Given the description of an element on the screen output the (x, y) to click on. 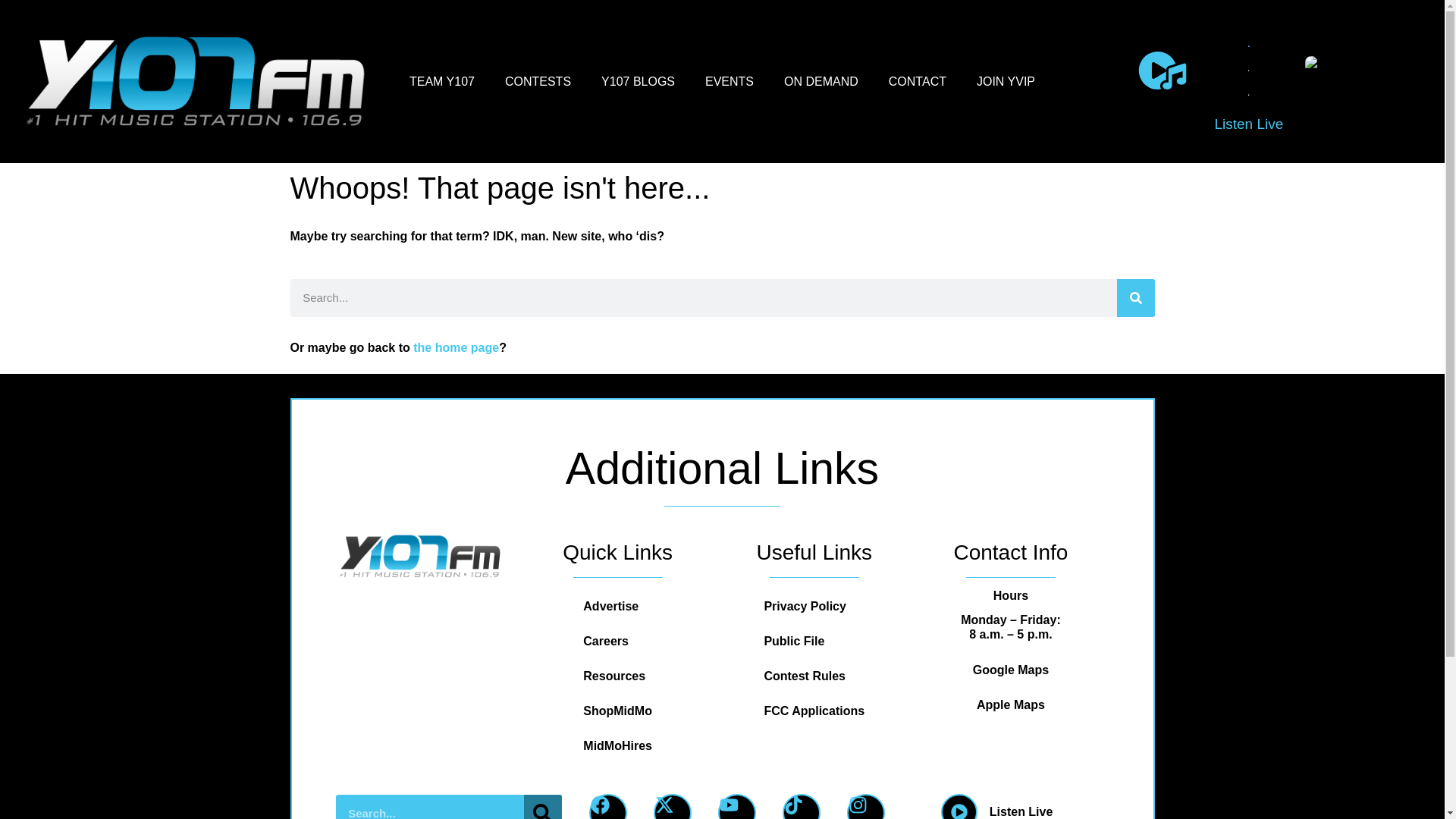
CONTESTS (537, 80)
EVENTS (729, 80)
TEAM Y107 (441, 80)
:  album cover (1334, 70)
JOIN YVIP (1004, 80)
Y107 BLOGS (638, 80)
ON DEMAND (820, 80)
CONTACT (916, 80)
